Given the description of an element on the screen output the (x, y) to click on. 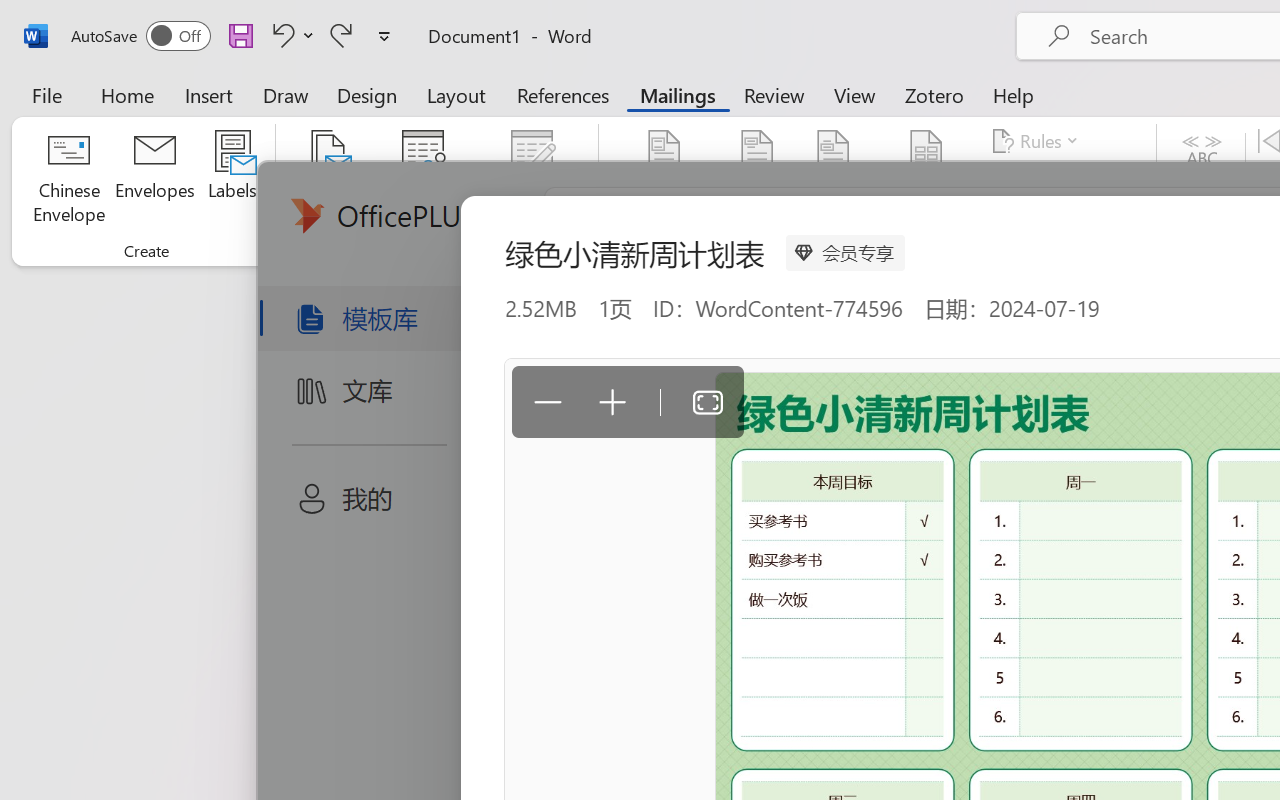
Labels... (232, 179)
Preview Results (1202, 179)
Redo Apply Quick Style (341, 35)
Start Mail Merge (328, 179)
